Given the description of an element on the screen output the (x, y) to click on. 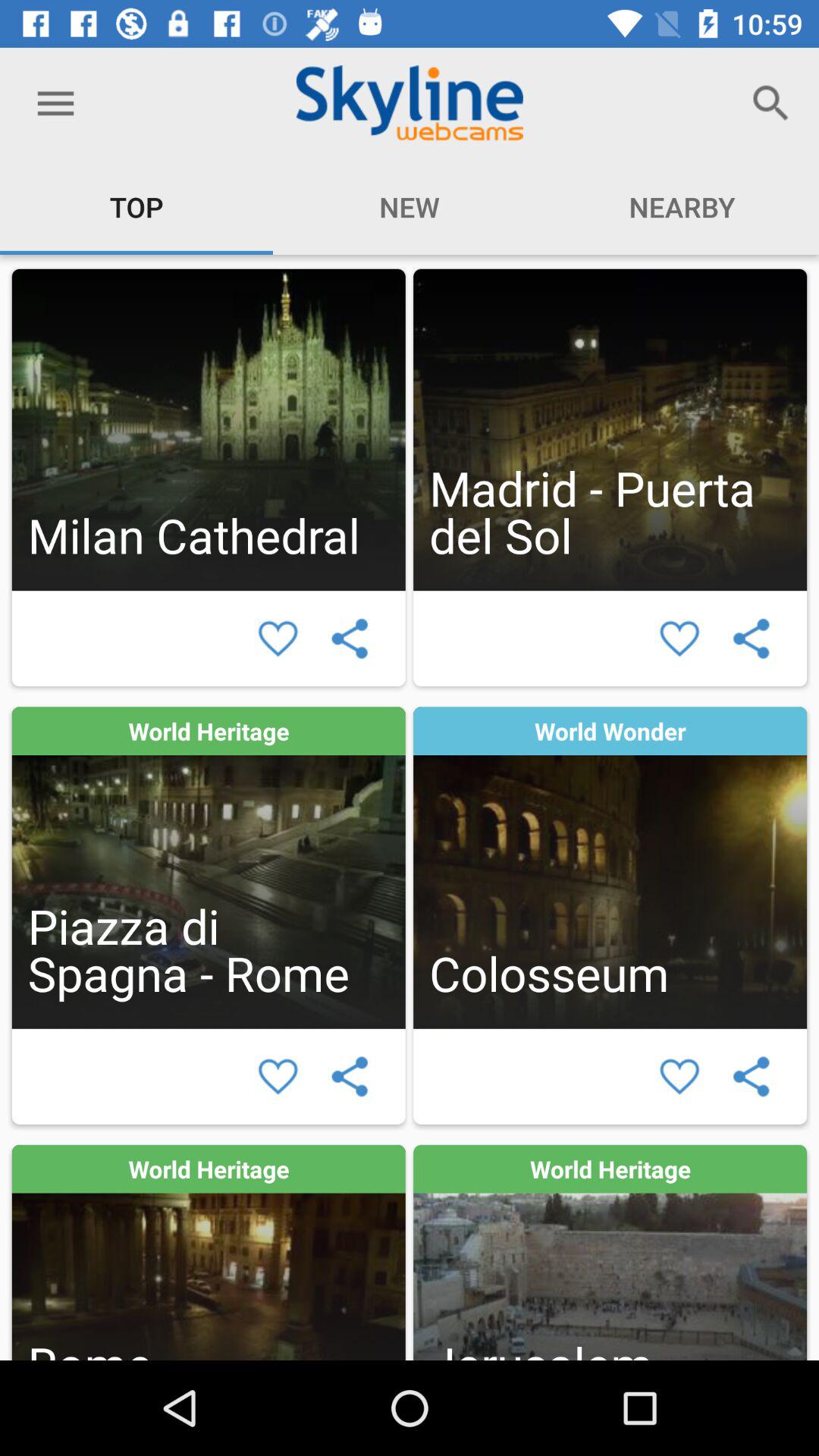
view the webcam in rome (208, 1252)
